Given the description of an element on the screen output the (x, y) to click on. 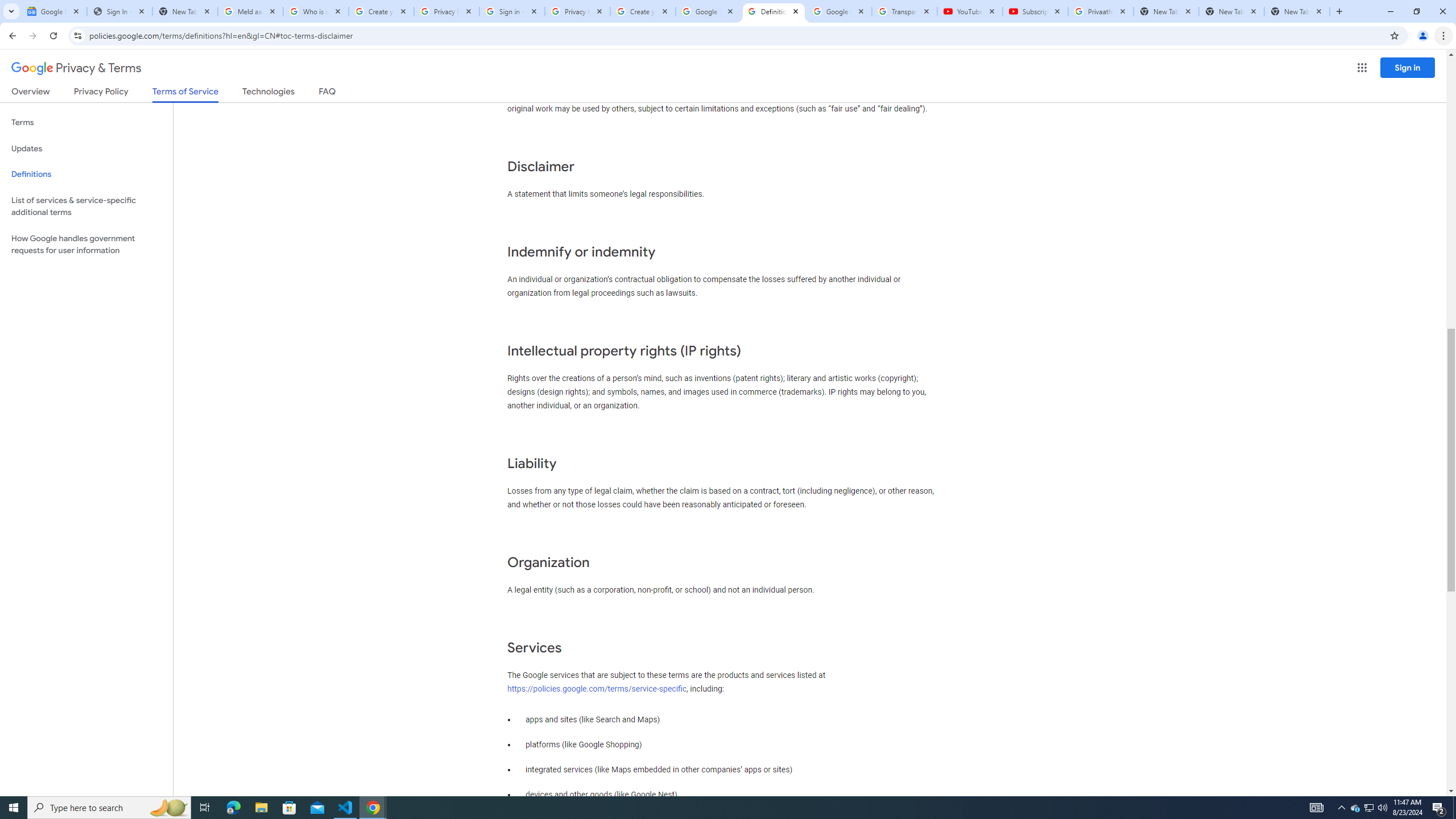
List of services & service-specific additional terms (86, 206)
Sign in (1407, 67)
Google News (53, 11)
Google Account (838, 11)
Who is my administrator? - Google Account Help (315, 11)
New Tab (1297, 11)
Updates (86, 148)
